Given the description of an element on the screen output the (x, y) to click on. 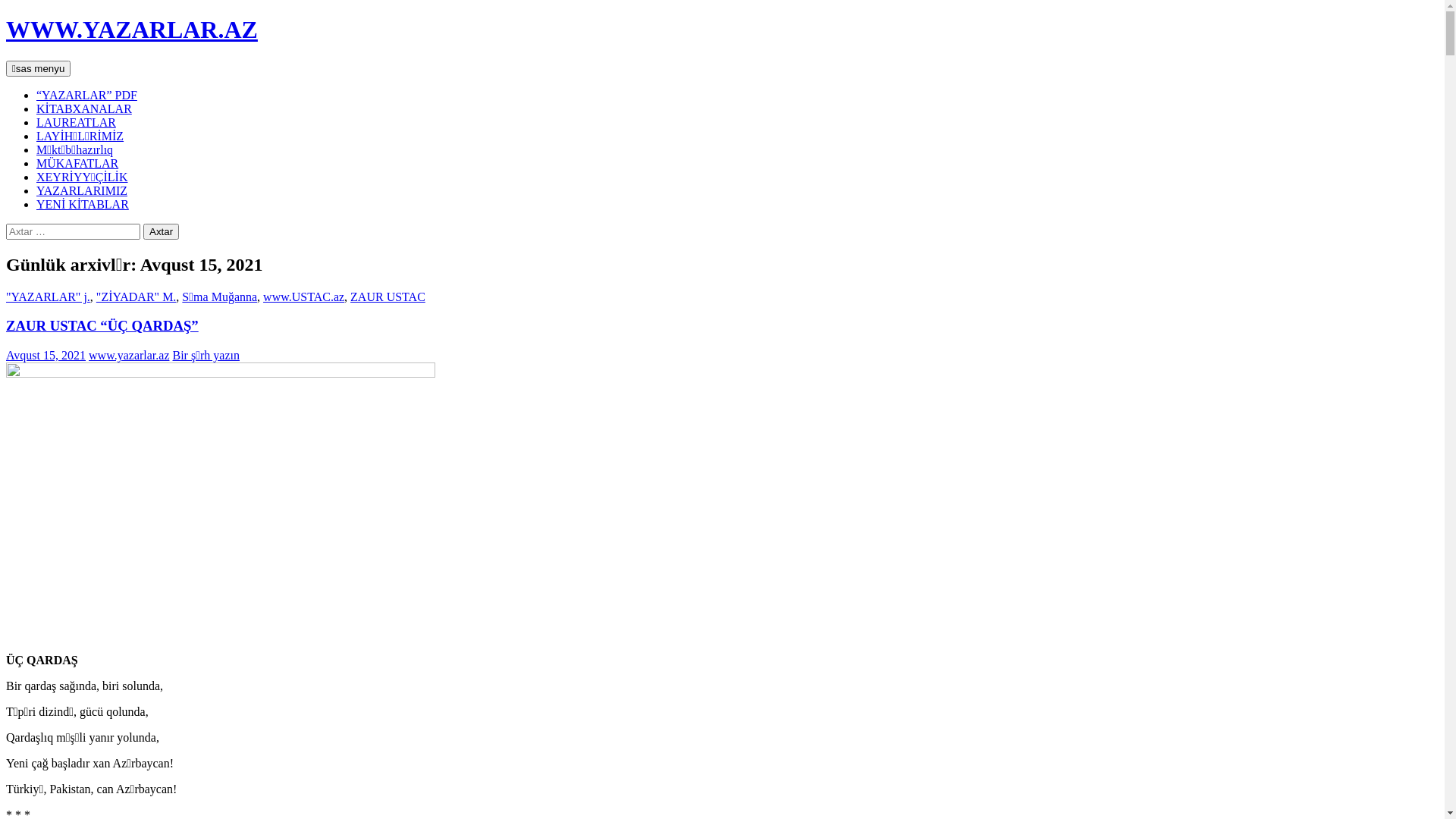
Axtar Element type: text (5, 59)
LAUREATLAR Element type: text (76, 122)
www.yazarlar.az Element type: text (128, 354)
YAZARLARIMIZ Element type: text (81, 190)
Axtar Element type: text (160, 231)
WWW.YAZARLAR.AZ Element type: text (131, 29)
Avqust 15, 2021 Element type: text (45, 354)
ZAUR USTAC Element type: text (387, 296)
"YAZARLAR" j. Element type: text (48, 296)
www.USTAC.az Element type: text (303, 296)
